Given the description of an element on the screen output the (x, y) to click on. 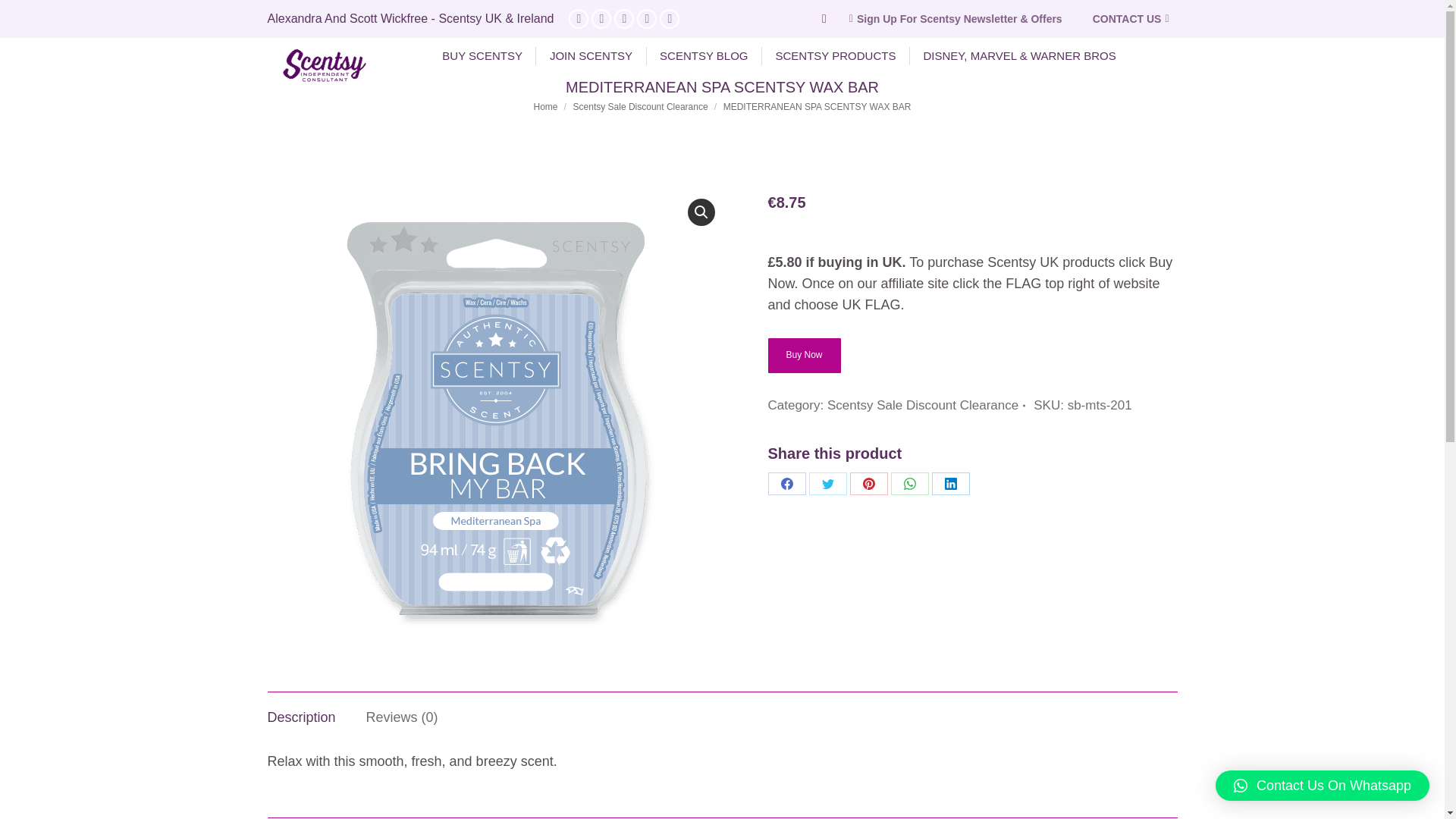
SCENTSY PRODUCTS (836, 55)
YouTube page opens in new window (601, 18)
Pinterest page opens in new window (623, 18)
BUY SCENTSY (482, 55)
Pinterest page opens in new window (623, 18)
Whatsapp page opens in new window (669, 18)
Facebook page opens in new window (578, 18)
Scentsy Sale Discount Clearance (640, 106)
Instagram page opens in new window (646, 18)
Go! (22, 15)
Instagram page opens in new window (646, 18)
JOIN SCENTSY (590, 55)
Home (545, 106)
SCENTSY BLOG (703, 55)
